Given the description of an element on the screen output the (x, y) to click on. 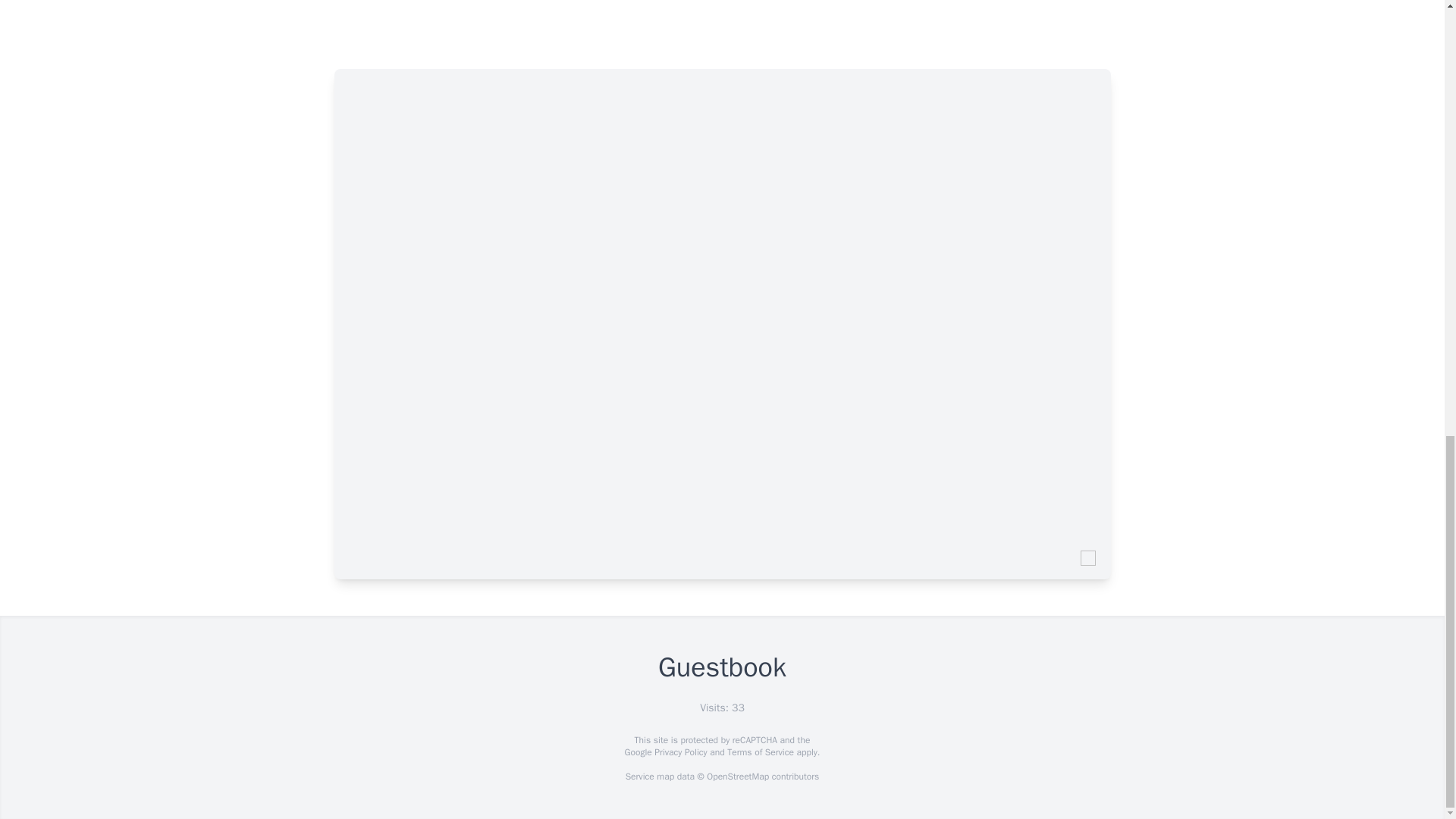
Terms of Service (759, 752)
OpenStreetMap (737, 776)
Privacy Policy (679, 752)
